Given the description of an element on the screen output the (x, y) to click on. 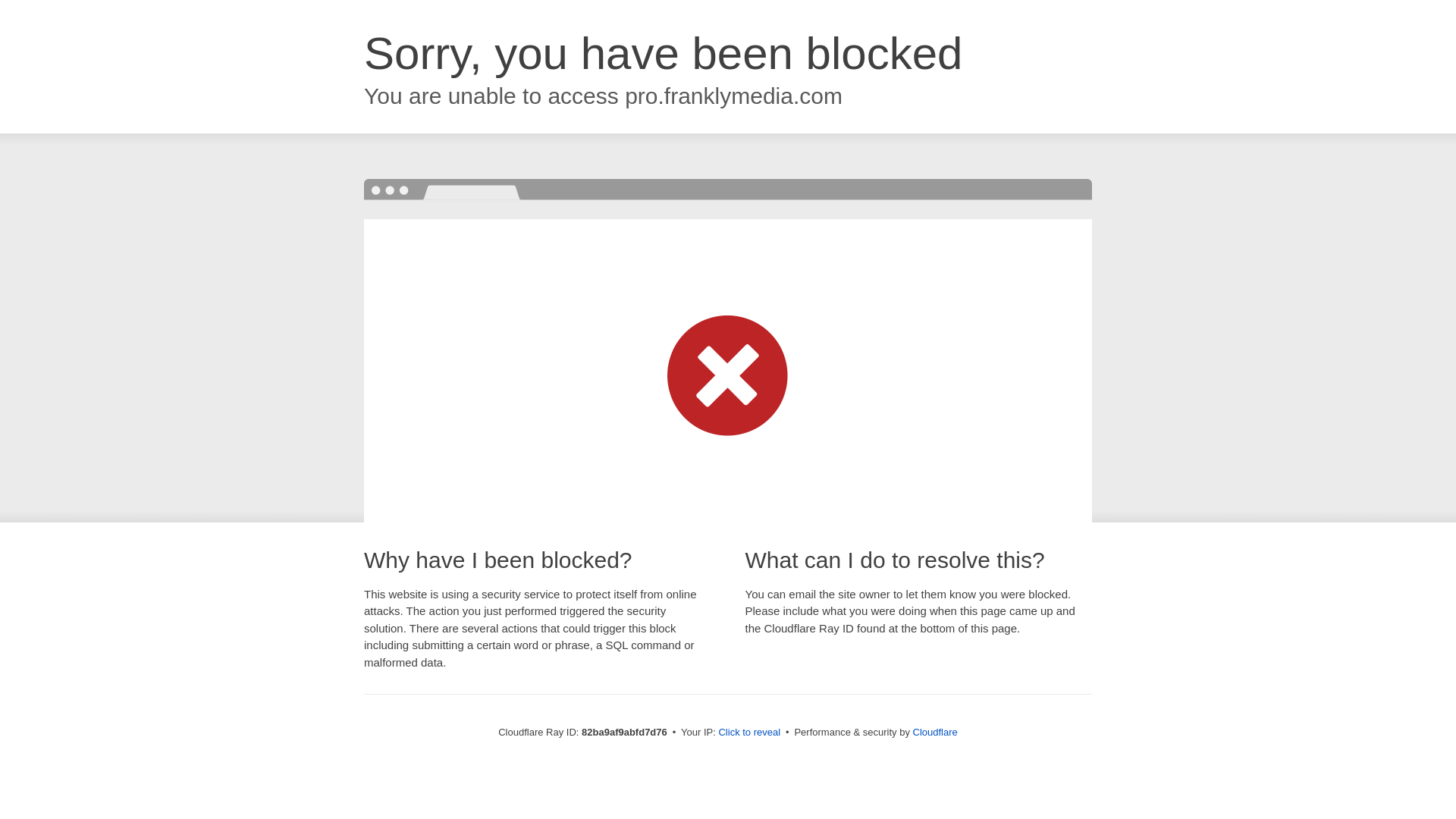
Click to reveal Element type: text (749, 732)
Cloudflare Element type: text (935, 731)
